Given the description of an element on the screen output the (x, y) to click on. 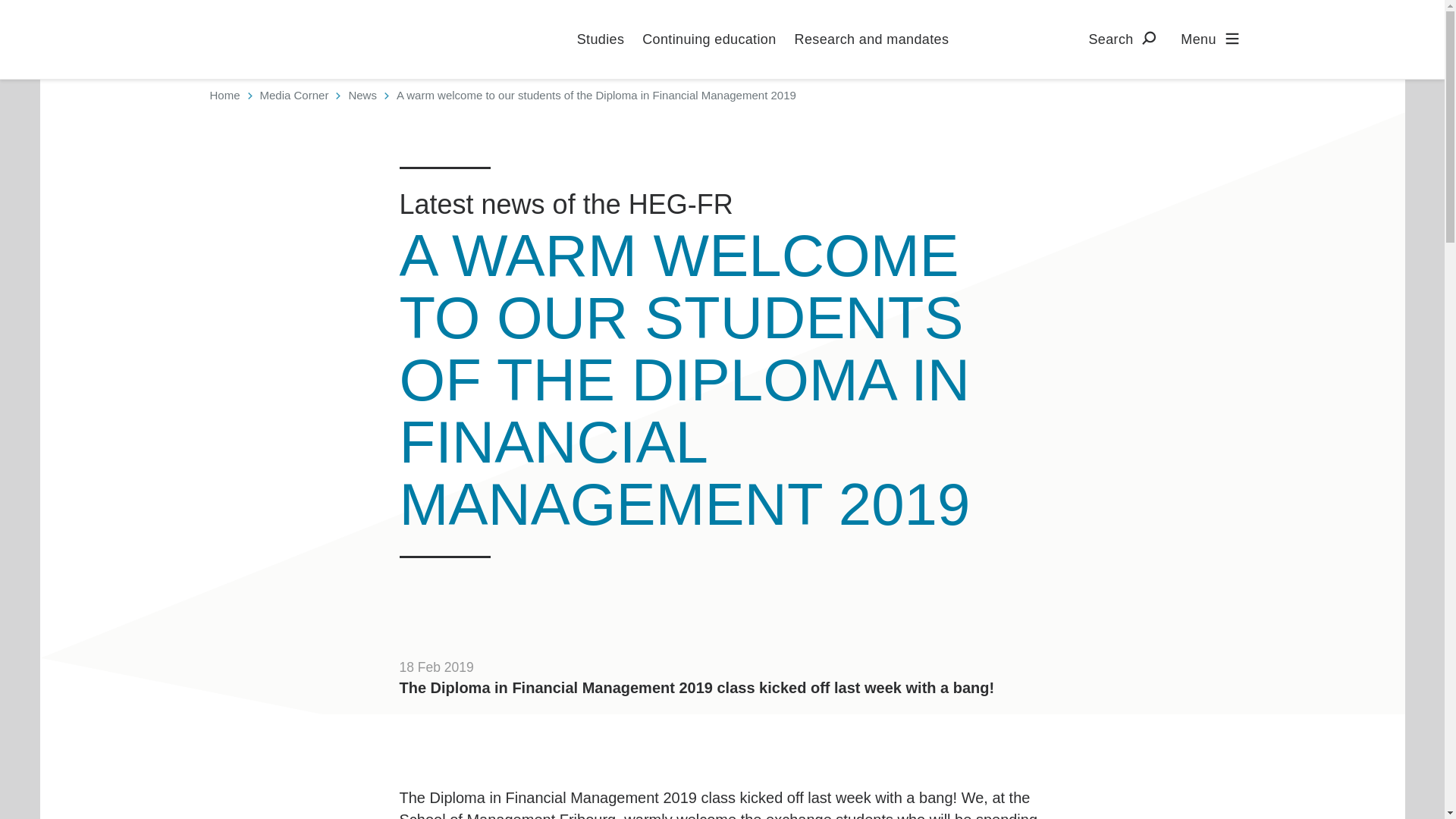
Search (1125, 38)
Menu (1212, 38)
Research and mandates (872, 39)
Studies (601, 39)
Continuing education (708, 39)
Media Corner (294, 95)
News (362, 95)
Home (224, 95)
